Given the description of an element on the screen output the (x, y) to click on. 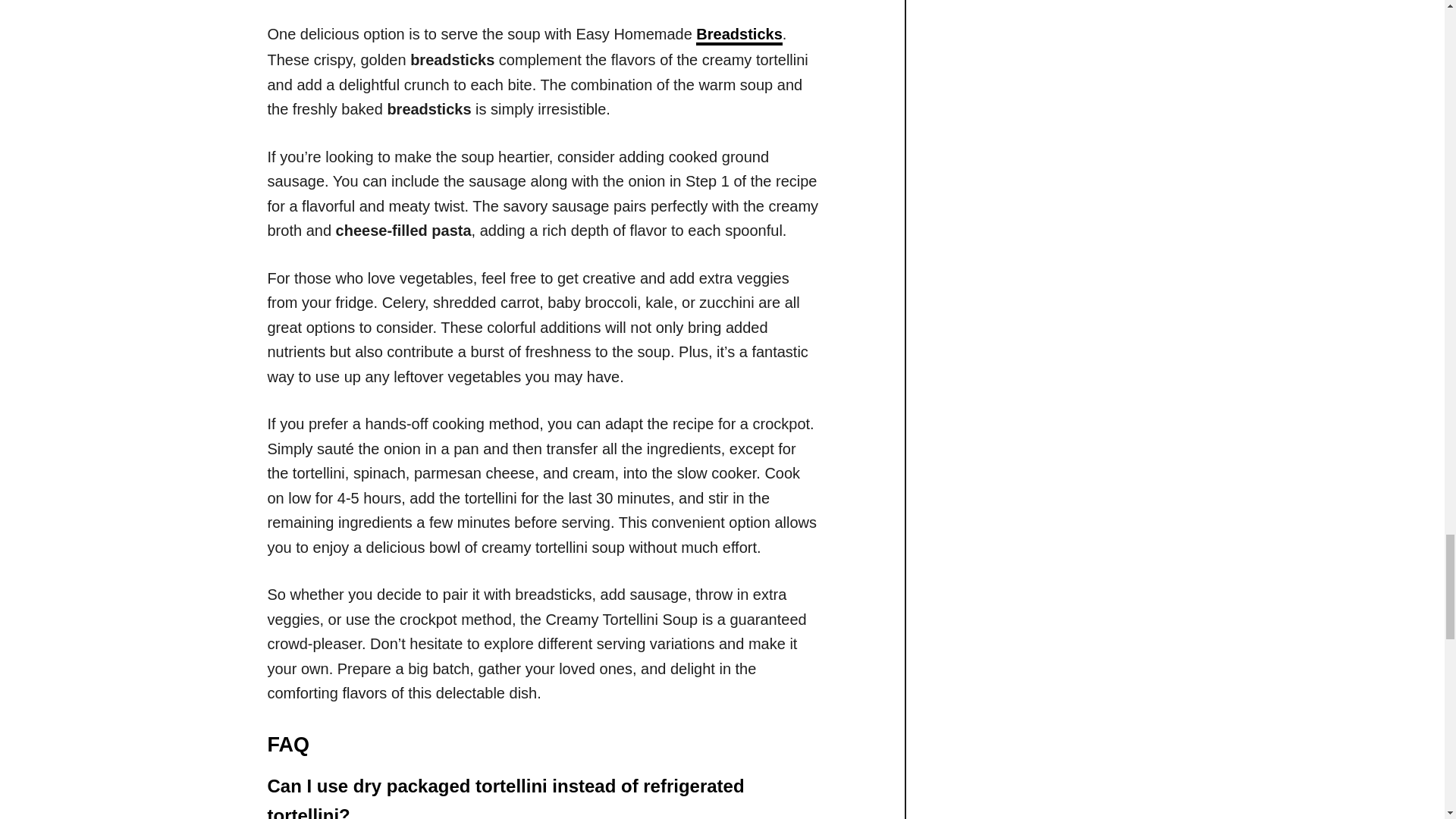
Breadsticks (738, 35)
Breadsticks (738, 35)
